Given the description of an element on the screen output the (x, y) to click on. 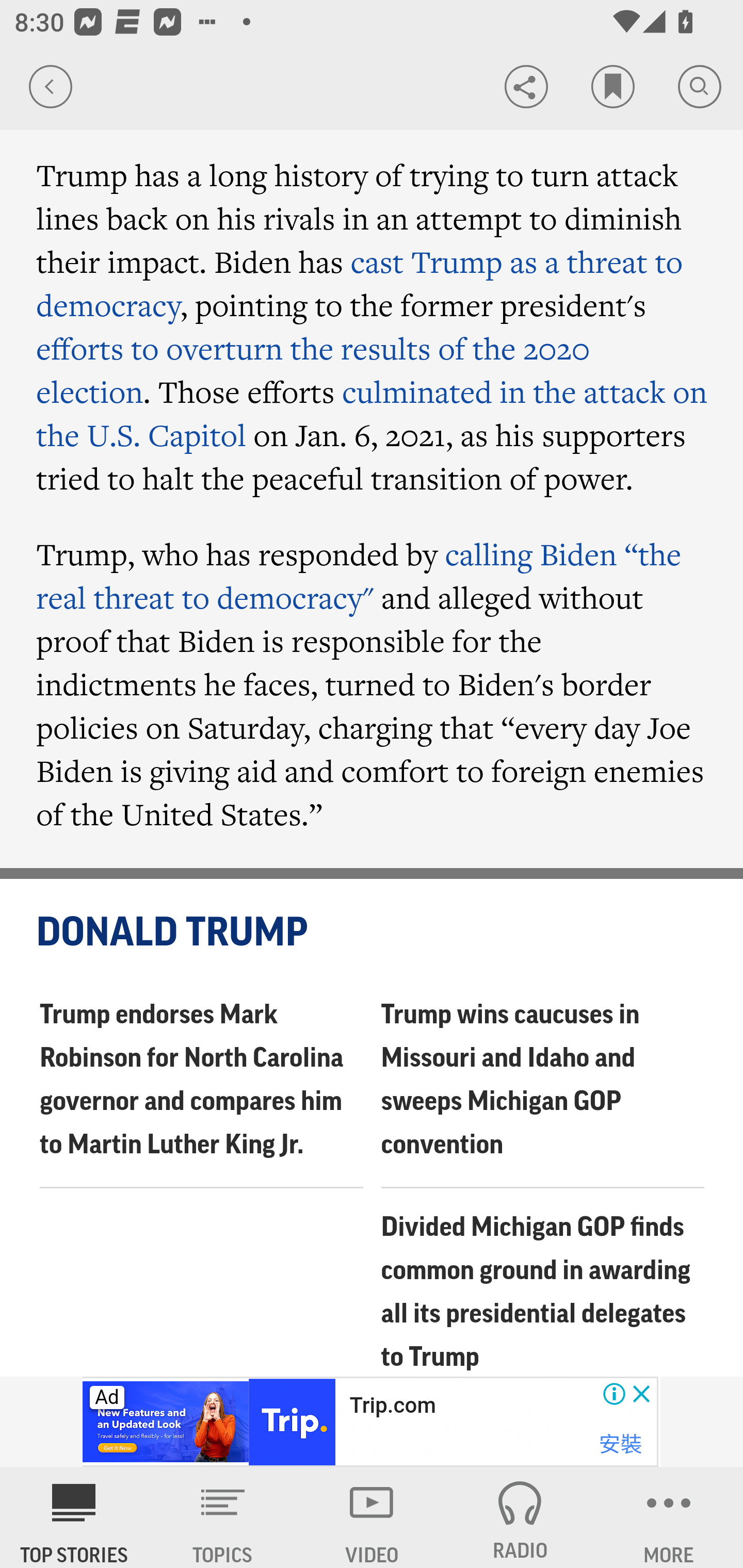
cast Trump as a threat to democracy (360, 282)
culminated in the attack on the U.S. Capitol (372, 413)
calling Biden “the real threat to democracy" (359, 575)
DONALD TRUMP (372, 932)
Trip.com (391, 1405)
安裝 (620, 1444)
AP News TOP STORIES (74, 1517)
TOPICS (222, 1517)
VIDEO (371, 1517)
RADIO (519, 1517)
MORE (668, 1517)
